Given the description of an element on the screen output the (x, y) to click on. 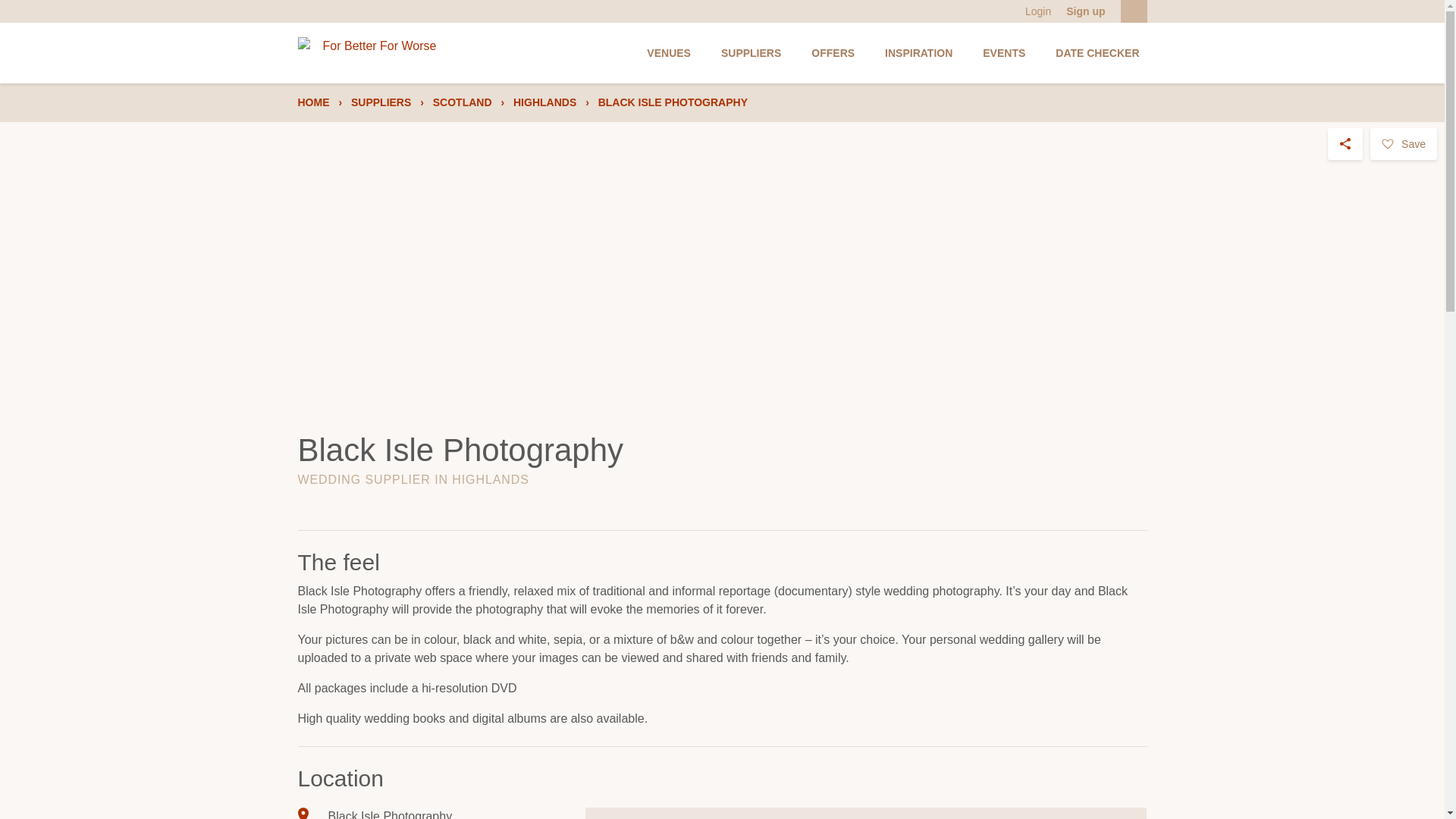
Login (1038, 11)
Highlands (544, 102)
SUPPLIERS (751, 52)
Black Isle Photography (673, 102)
Share (1344, 143)
OFFERS (832, 52)
Sign up (1085, 11)
EVENTS (1003, 52)
DATE CHECKER (1097, 52)
VENUES (668, 52)
